Given the description of an element on the screen output the (x, y) to click on. 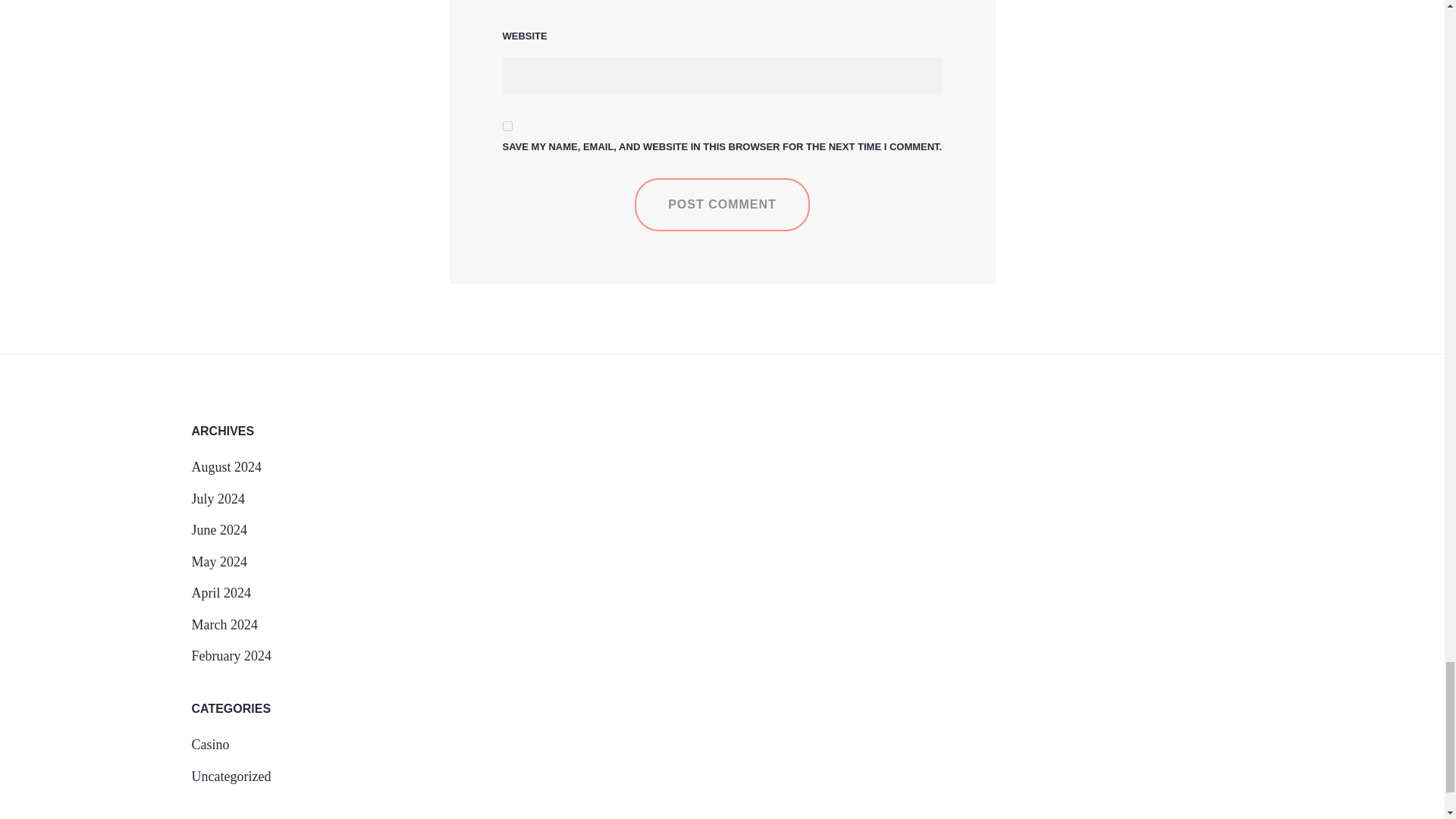
yes (507, 126)
Post Comment (721, 204)
Casino (209, 744)
July 2024 (217, 498)
March 2024 (223, 624)
August 2024 (226, 467)
Post Comment (721, 204)
April 2024 (220, 592)
February 2024 (230, 655)
May 2024 (218, 561)
June 2024 (218, 529)
Uncategorized (230, 776)
